Given the description of an element on the screen output the (x, y) to click on. 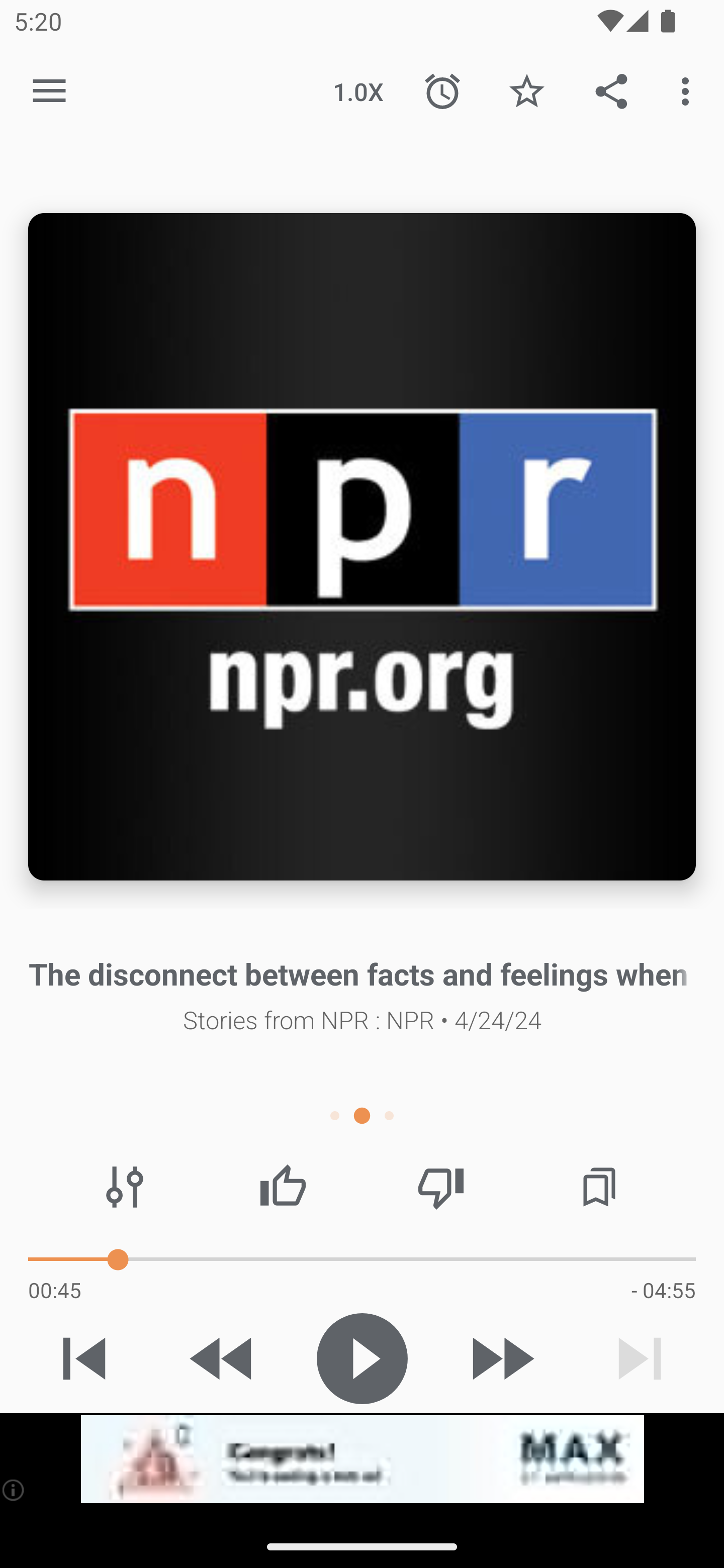
Open navigation sidebar (49, 91)
1.0X (357, 90)
Sleep Timer (442, 90)
Favorite (526, 90)
Share (611, 90)
More options (688, 90)
Episode description (361, 547)
Audio effects (124, 1186)
Thumbs up (283, 1186)
Thumbs down (440, 1186)
Chapters / Bookmarks (598, 1186)
- 04:55 (663, 1289)
Previous track (84, 1358)
Skip 15s backward (222, 1358)
Play / Pause (362, 1358)
Skip 30s forward (500, 1358)
Next track (639, 1358)
app-monetization (362, 1459)
(i) (14, 1489)
